Given the description of an element on the screen output the (x, y) to click on. 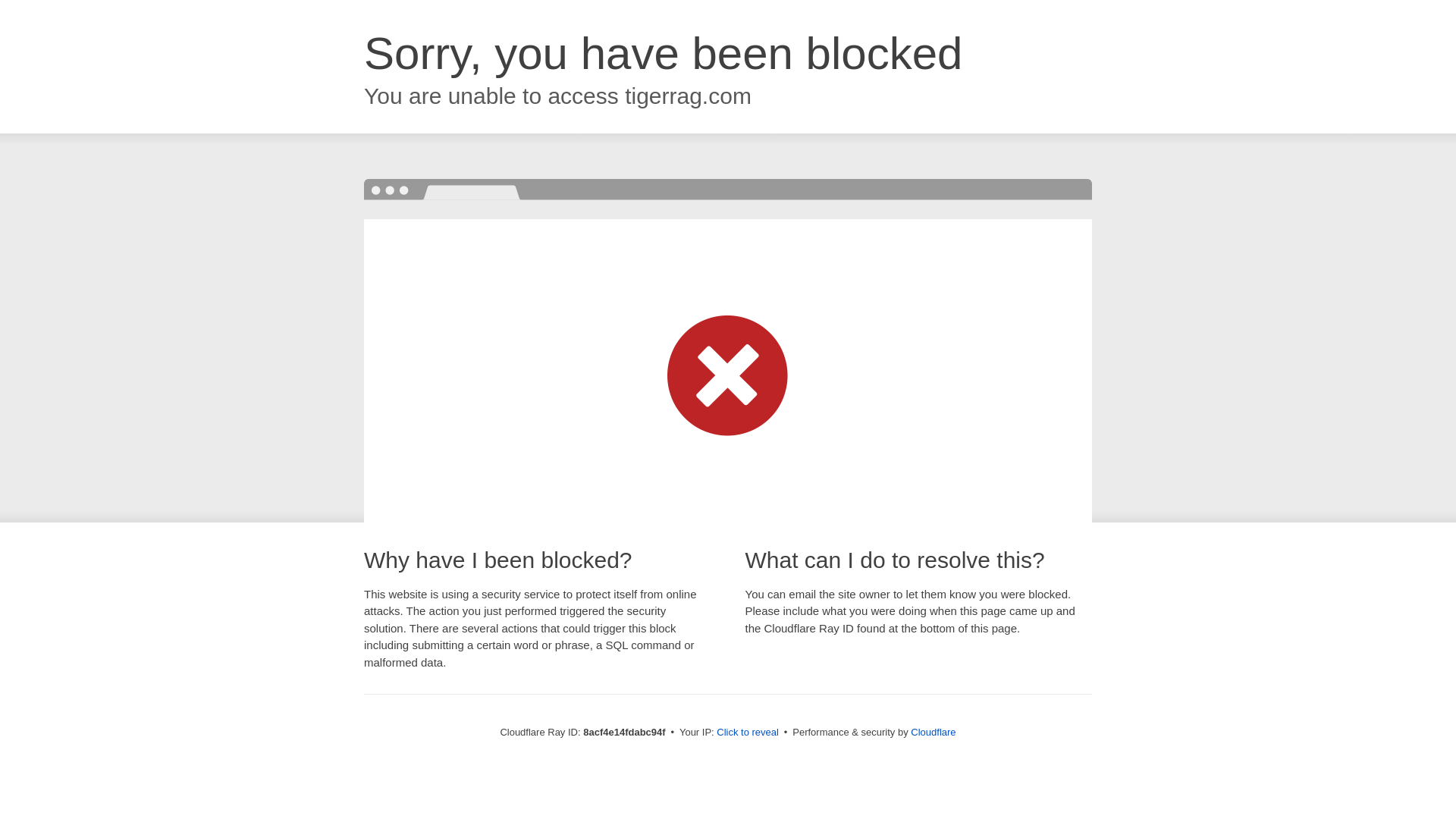
Click to reveal (747, 732)
Cloudflare (933, 731)
